Given the description of an element on the screen output the (x, y) to click on. 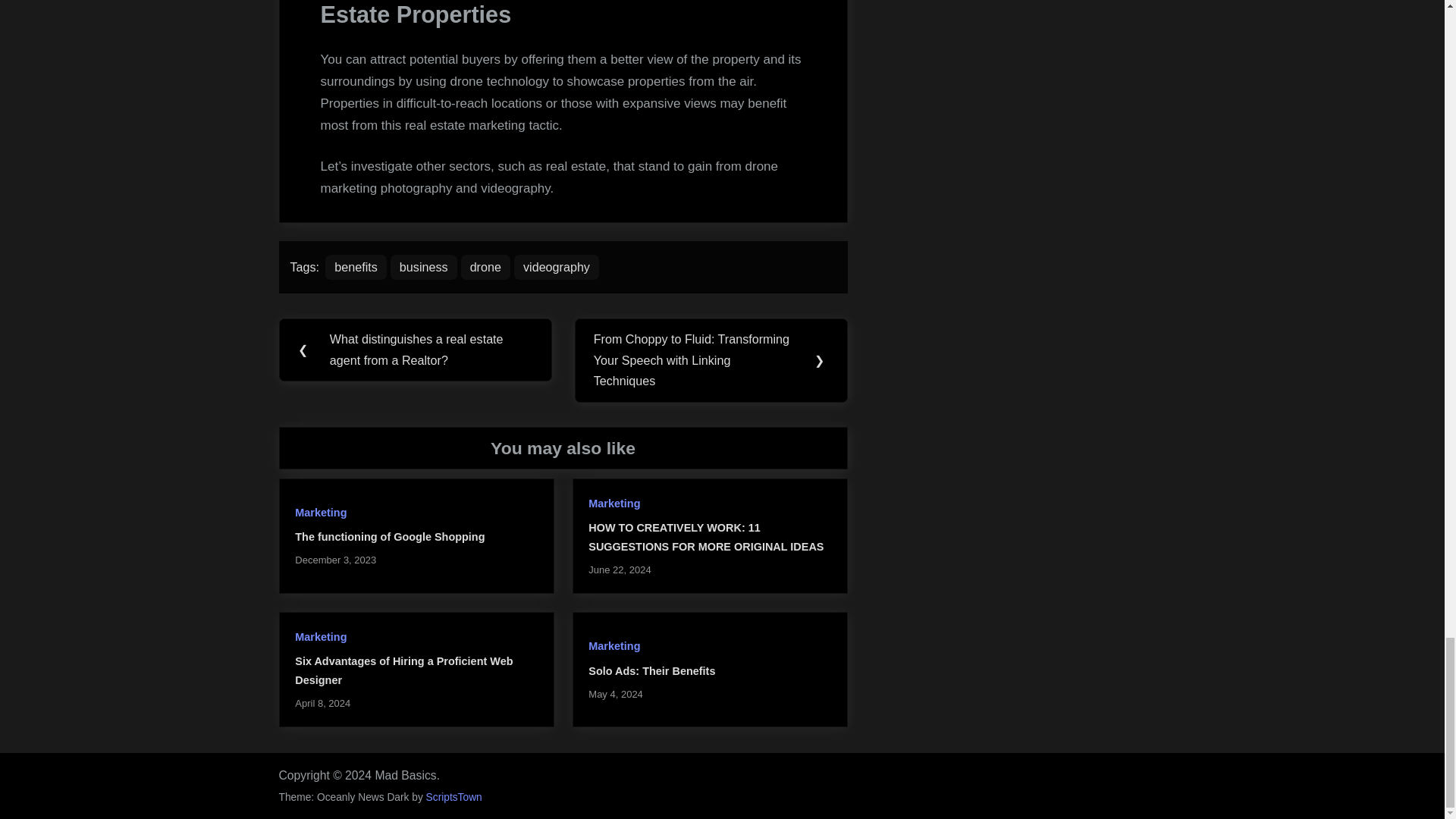
drone (486, 266)
business (423, 266)
Marketing (614, 503)
Marketing (320, 512)
benefits (355, 266)
Marketing (320, 636)
videography (555, 266)
Marketing (614, 645)
ScriptsTown (453, 797)
The functioning of Google Shopping (389, 536)
Six Advantages of Hiring a Proficient Web Designer (403, 670)
Solo Ads: Their Benefits (651, 671)
